Given the description of an element on the screen output the (x, y) to click on. 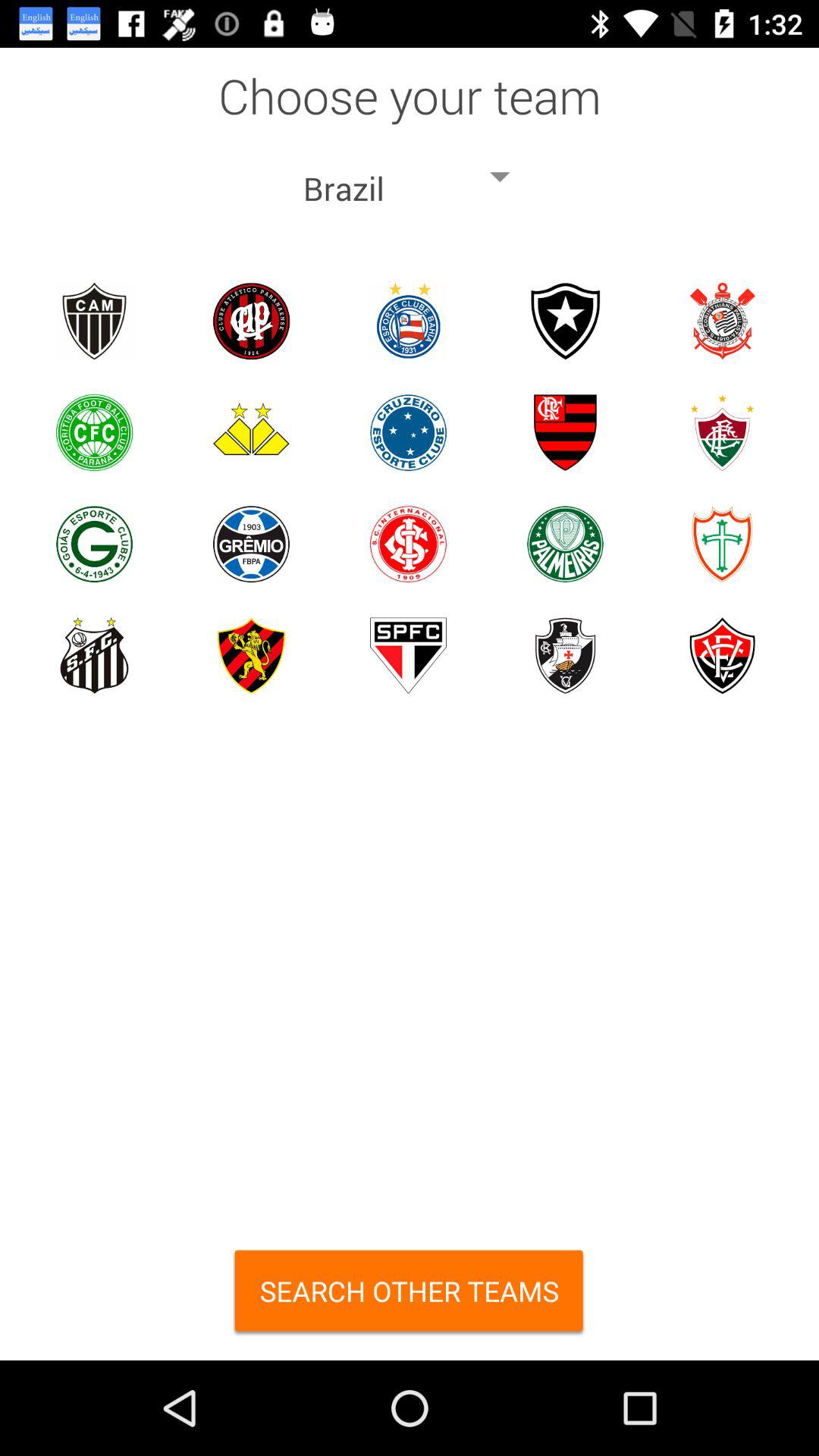
select team (408, 655)
